Given the description of an element on the screen output the (x, y) to click on. 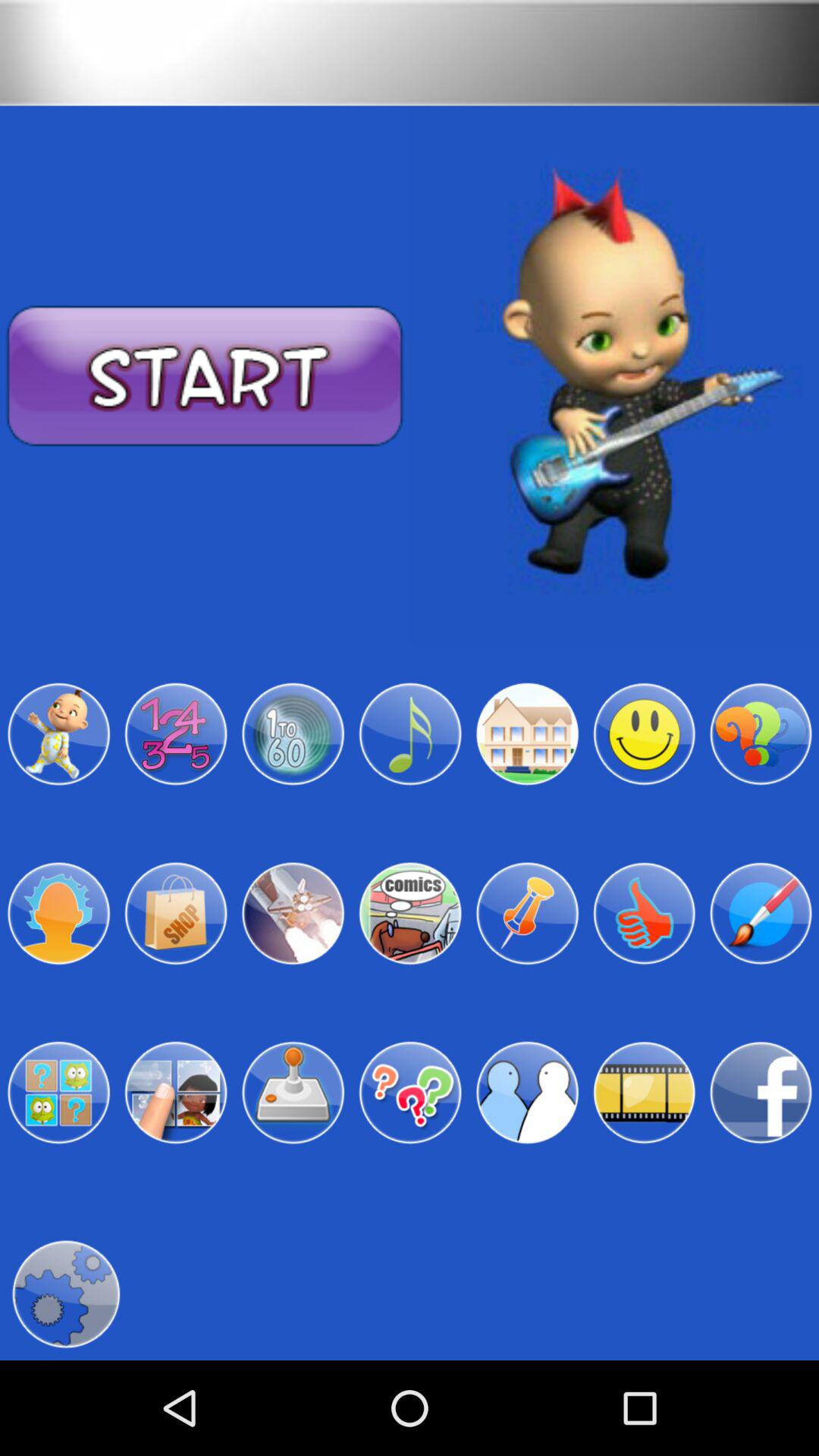
connect to facebook (760, 1092)
